Given the description of an element on the screen output the (x, y) to click on. 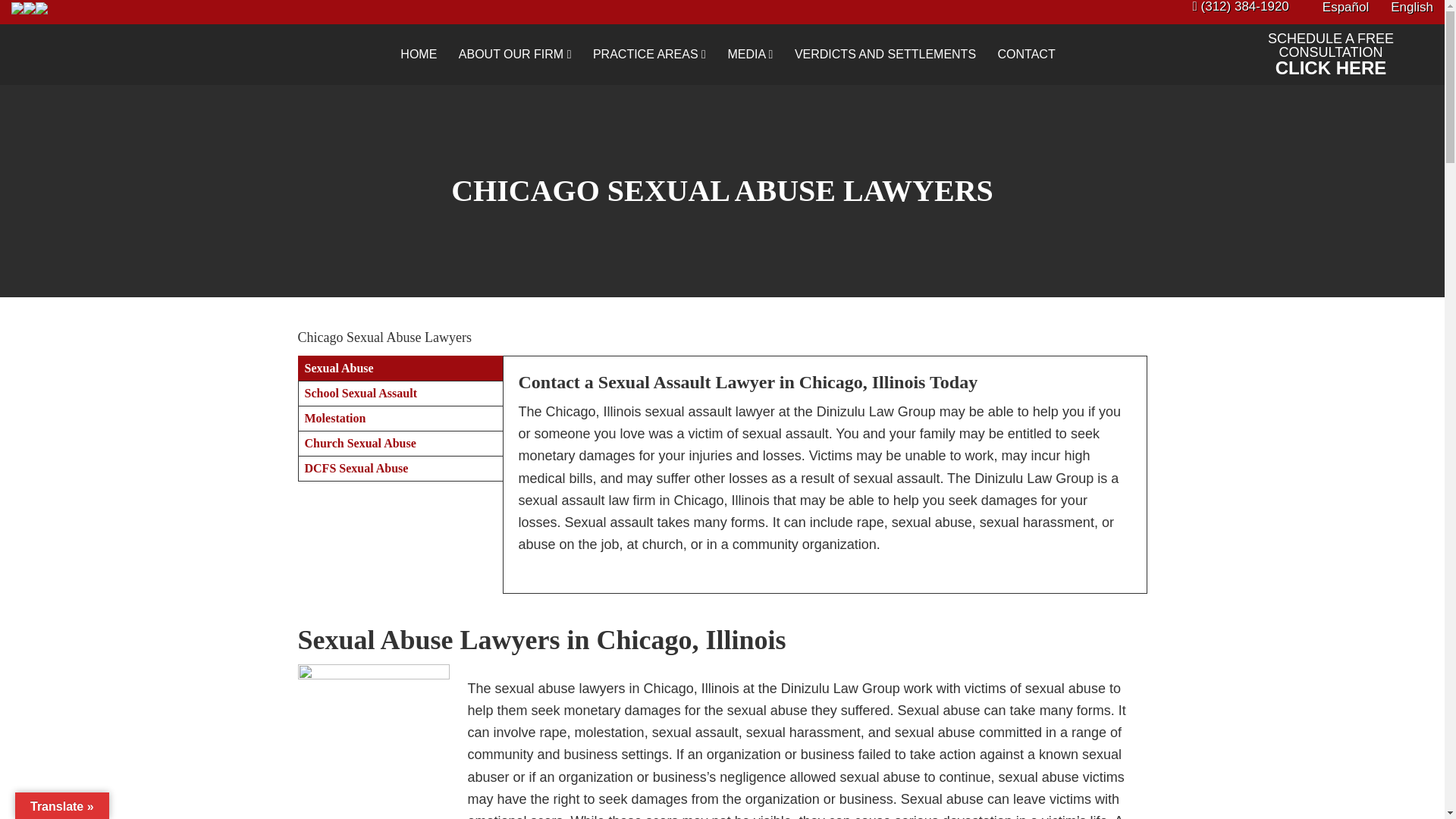
PRACTICE AREAS (648, 54)
ABOUT OUR FIRM (514, 54)
Spanish (1334, 8)
HOME (418, 54)
MEDIA (749, 54)
English (1400, 8)
English (1400, 8)
Dinizulu Law (124, 54)
